Given the description of an element on the screen output the (x, y) to click on. 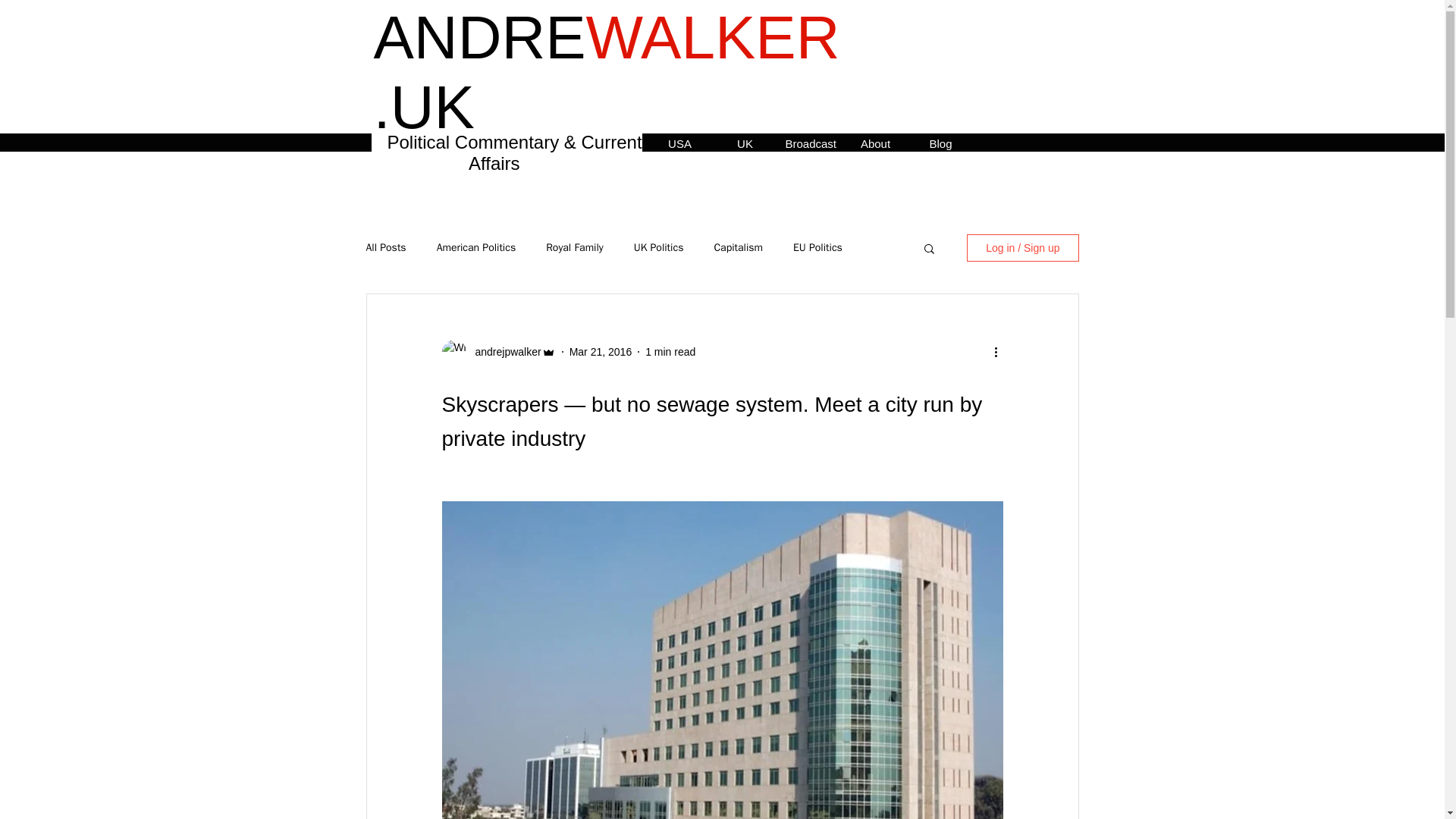
UK (745, 141)
Capitalism (737, 247)
Royal Family (575, 247)
1 min read (670, 351)
American Politics (476, 247)
About (875, 141)
andrejpwalker (502, 351)
Mar 21, 2016 (600, 351)
UK Politics (658, 247)
All Posts (385, 247)
